Given the description of an element on the screen output the (x, y) to click on. 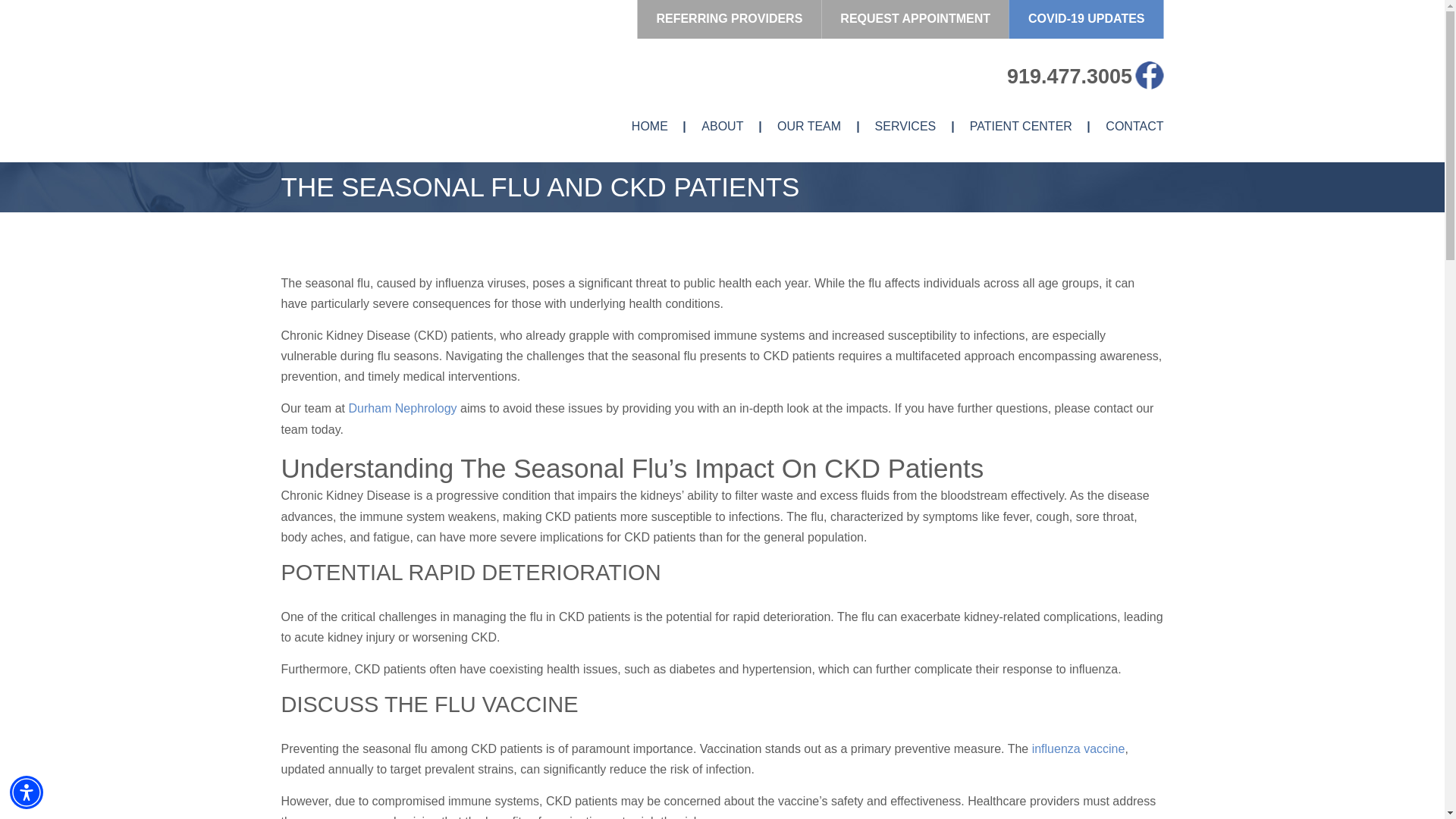
influenza vaccine (1078, 748)
HOME (649, 126)
REFERRING PROVIDERS (729, 19)
Accessibility Menu (26, 792)
Durham Nephrology (368, 75)
REQUEST APPOINTMENT (915, 19)
